Given the description of an element on the screen output the (x, y) to click on. 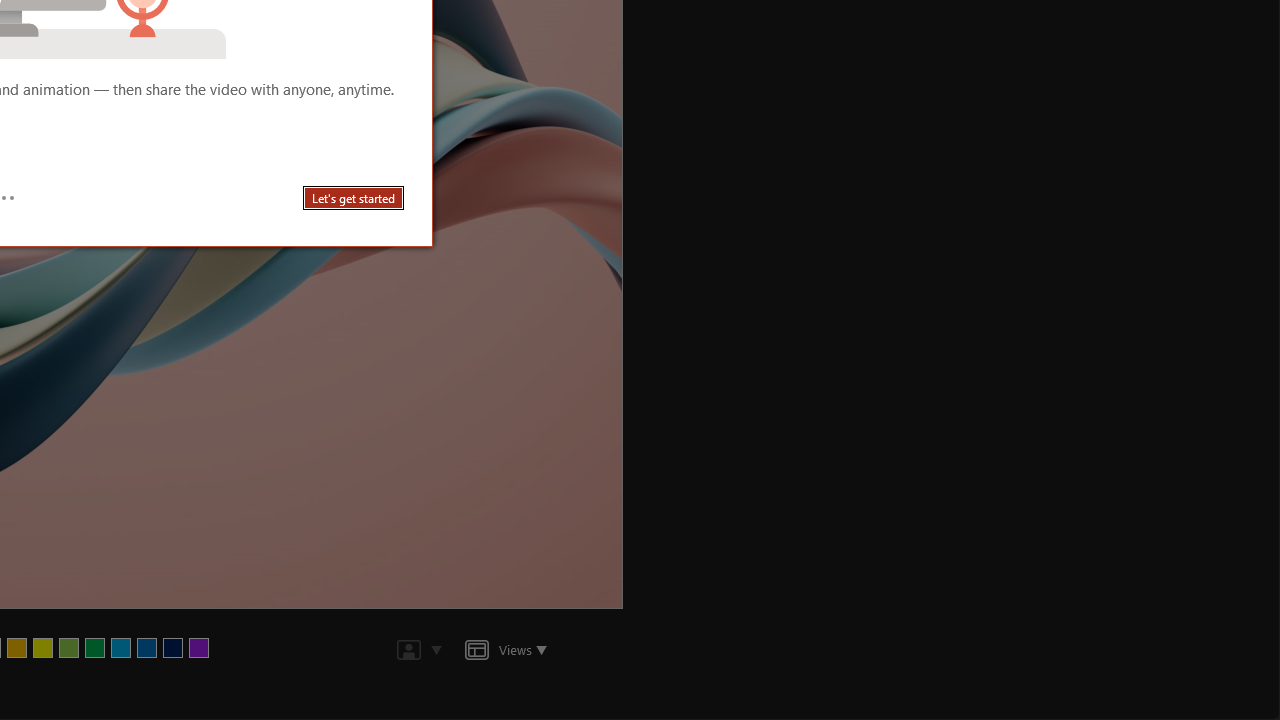
Let's get started (353, 197)
Zoom 160% (1234, 668)
